Given the description of an element on the screen output the (x, y) to click on. 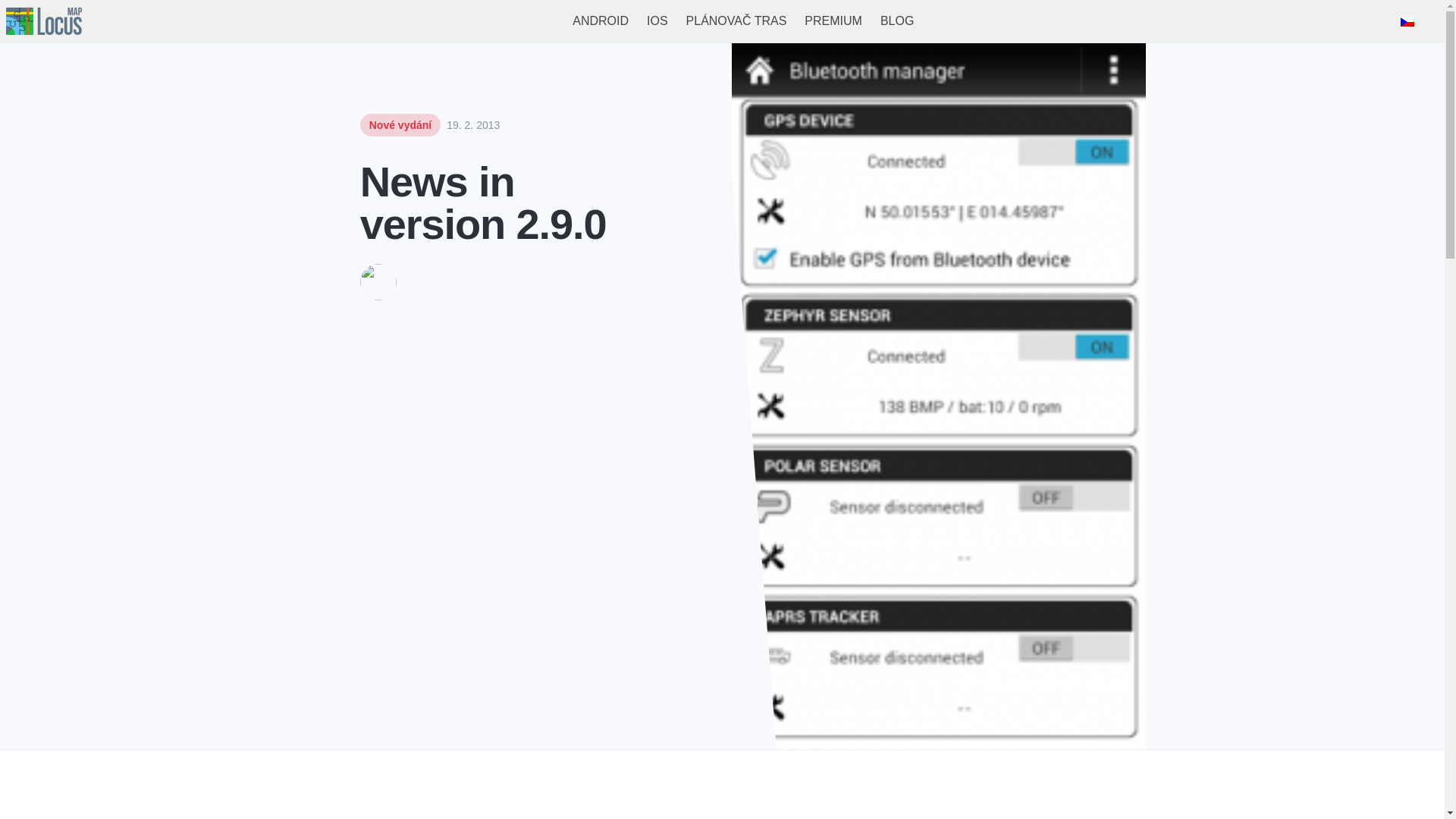
Android (600, 21)
IOS (657, 21)
ANDROID (600, 21)
iOS (657, 21)
BLOG (896, 21)
Blog (896, 21)
PREMIUM (832, 21)
Premium (832, 21)
